Given the description of an element on the screen output the (x, y) to click on. 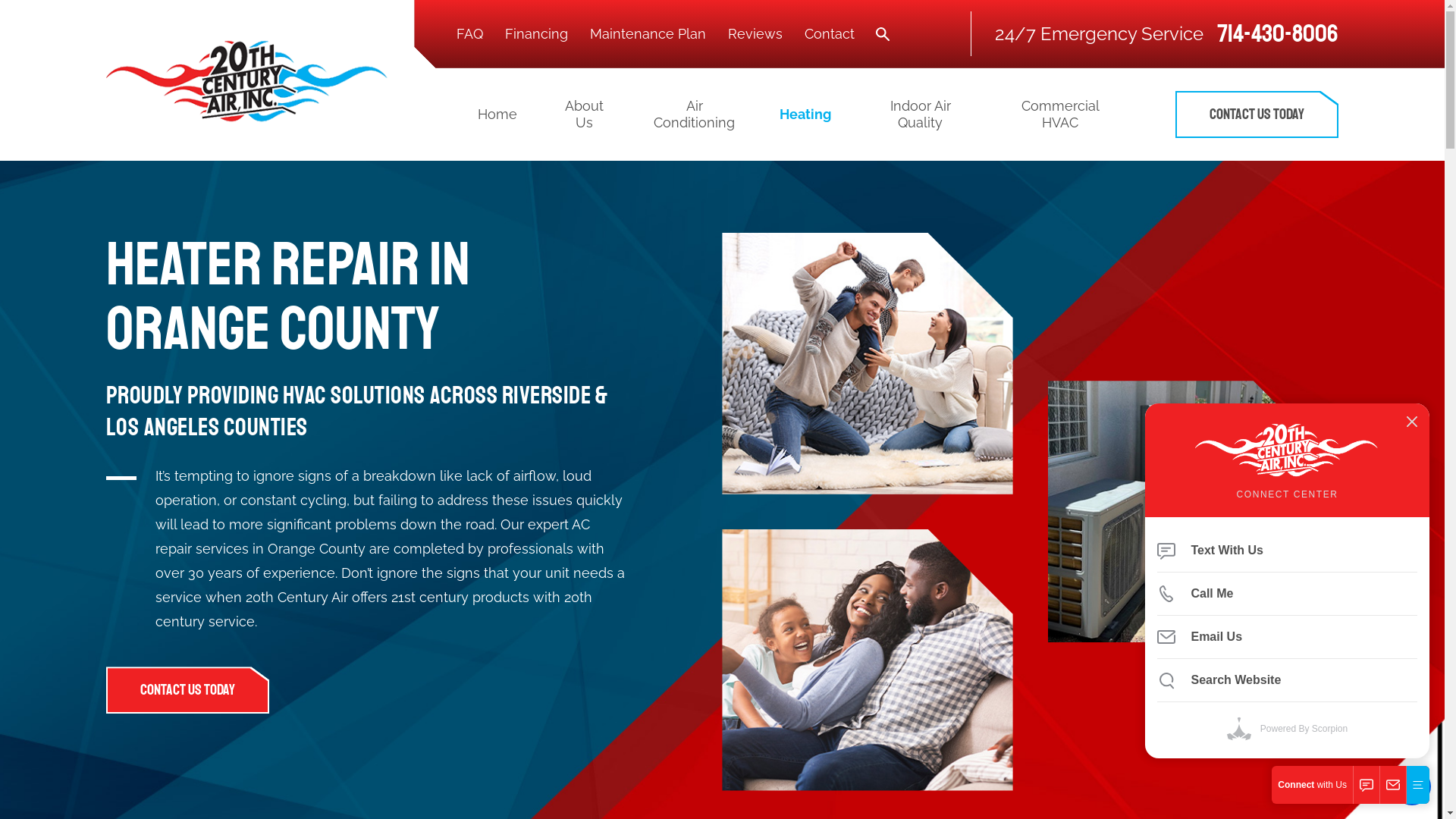
Reviews Element type: text (755, 33)
Maintenance Plan Element type: text (647, 33)
Call Me Element type: text (1287, 593)
Commercial HVAC Element type: text (1049, 114)
Text With Us Element type: text (1287, 550)
Financing Element type: text (536, 33)
Email Us Element type: text (1287, 636)
Heating Element type: text (805, 114)
Contact Element type: text (829, 33)
Search Website Element type: text (1287, 679)
FAQ Element type: text (469, 33)
Indoor Air Quality Element type: text (919, 114)
Air Conditioning Element type: text (694, 114)
About Us Element type: text (583, 114)
20th Century Air Element type: hover (247, 80)
Contact Us Today Element type: text (1256, 114)
Contact Us Today Element type: text (187, 689)
Search Our Site Element type: hover (882, 33)
Powered By Scorpion Element type: text (1286, 728)
Open the accessibility options menu Element type: hover (1411, 786)
Home Element type: text (507, 114)
714-430-8006 Element type: text (1277, 33)
